Given the description of an element on the screen output the (x, y) to click on. 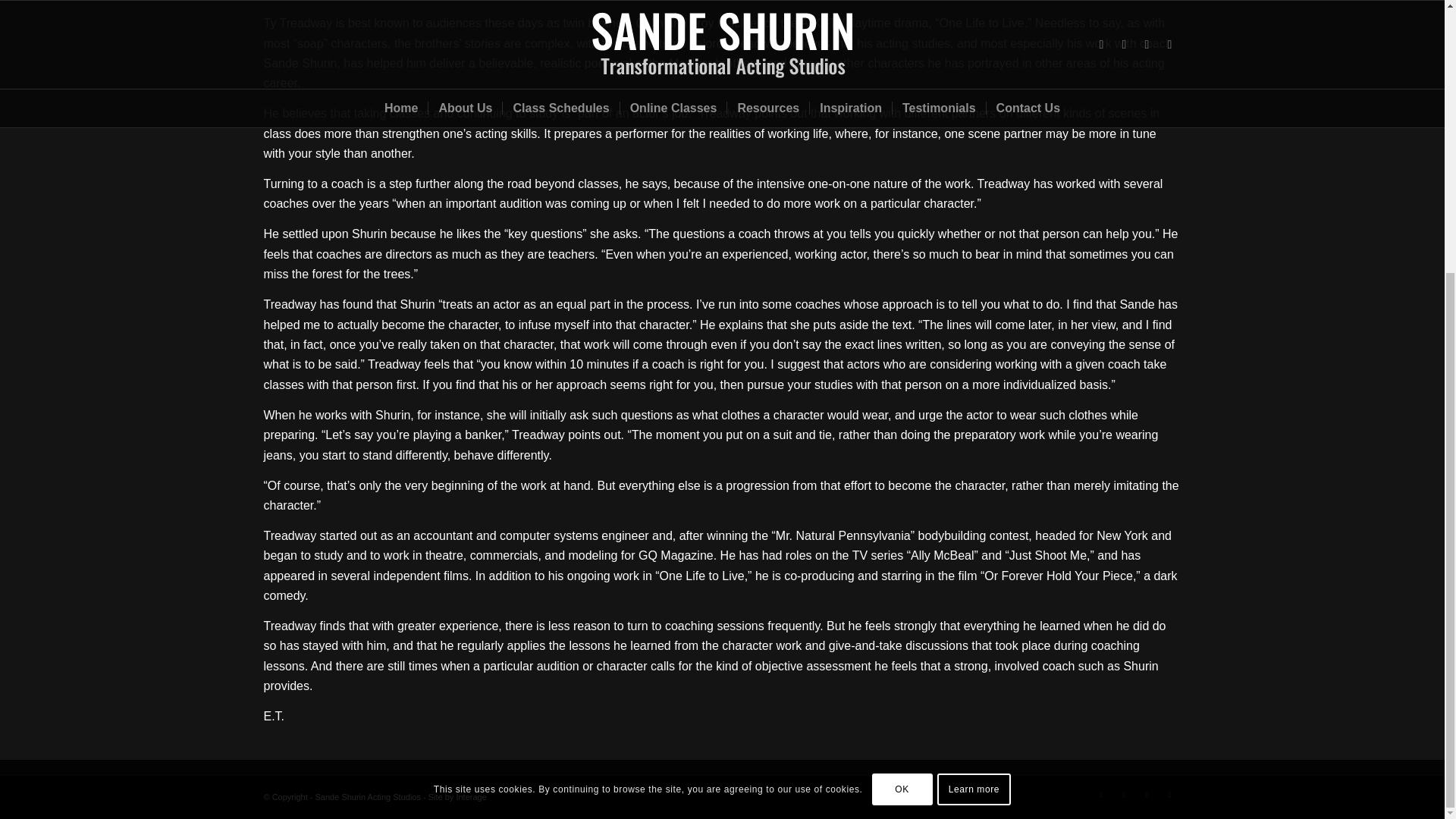
LinkedIn (1124, 793)
Facebook (1146, 793)
Twitter (1101, 793)
Learn more (974, 388)
OK (902, 388)
Youtube (1169, 793)
